Given the description of an element on the screen output the (x, y) to click on. 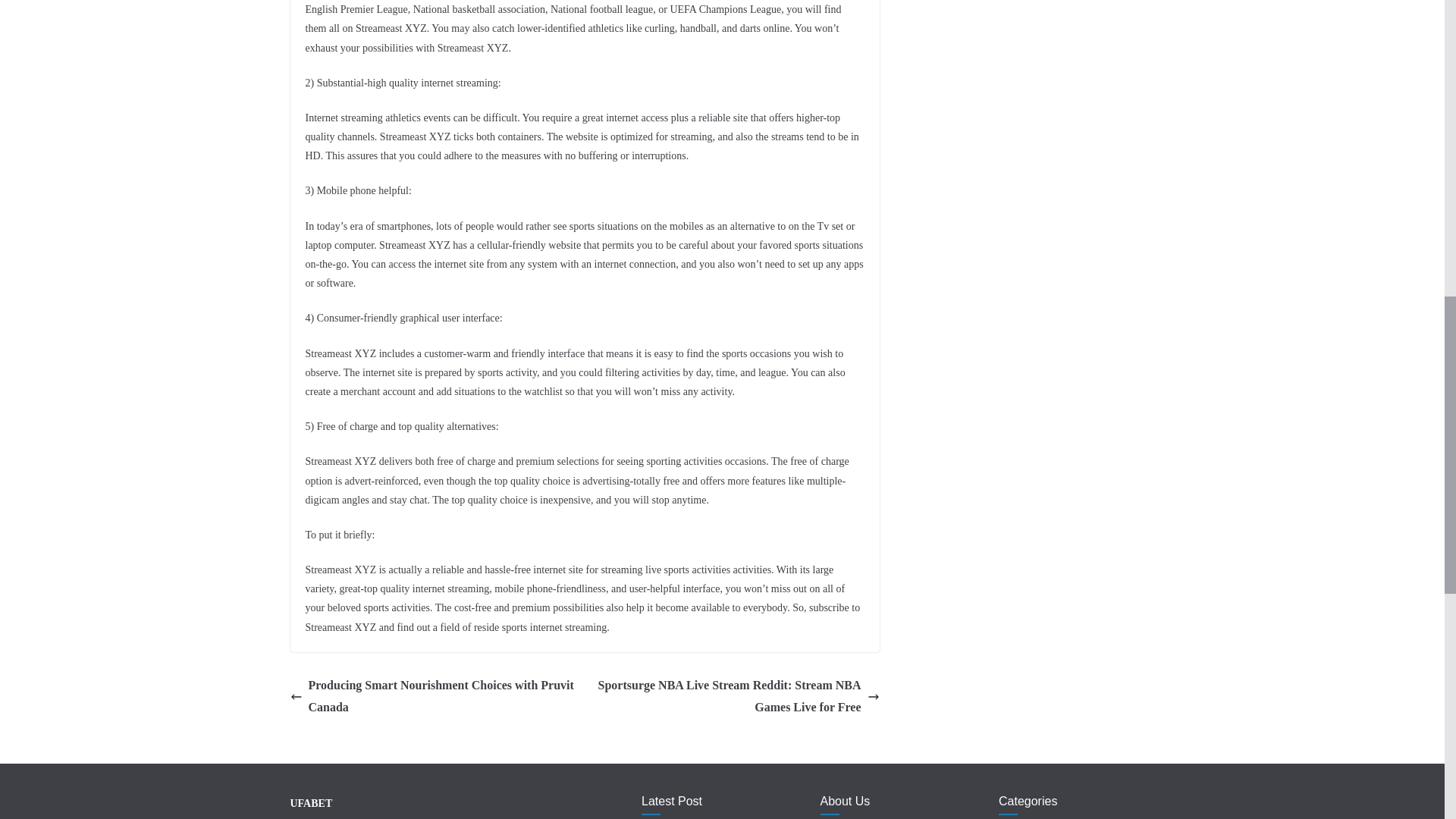
Producing Smart Nourishment Choices with Pruvit Canada (432, 696)
UFABET (310, 803)
